Given the description of an element on the screen output the (x, y) to click on. 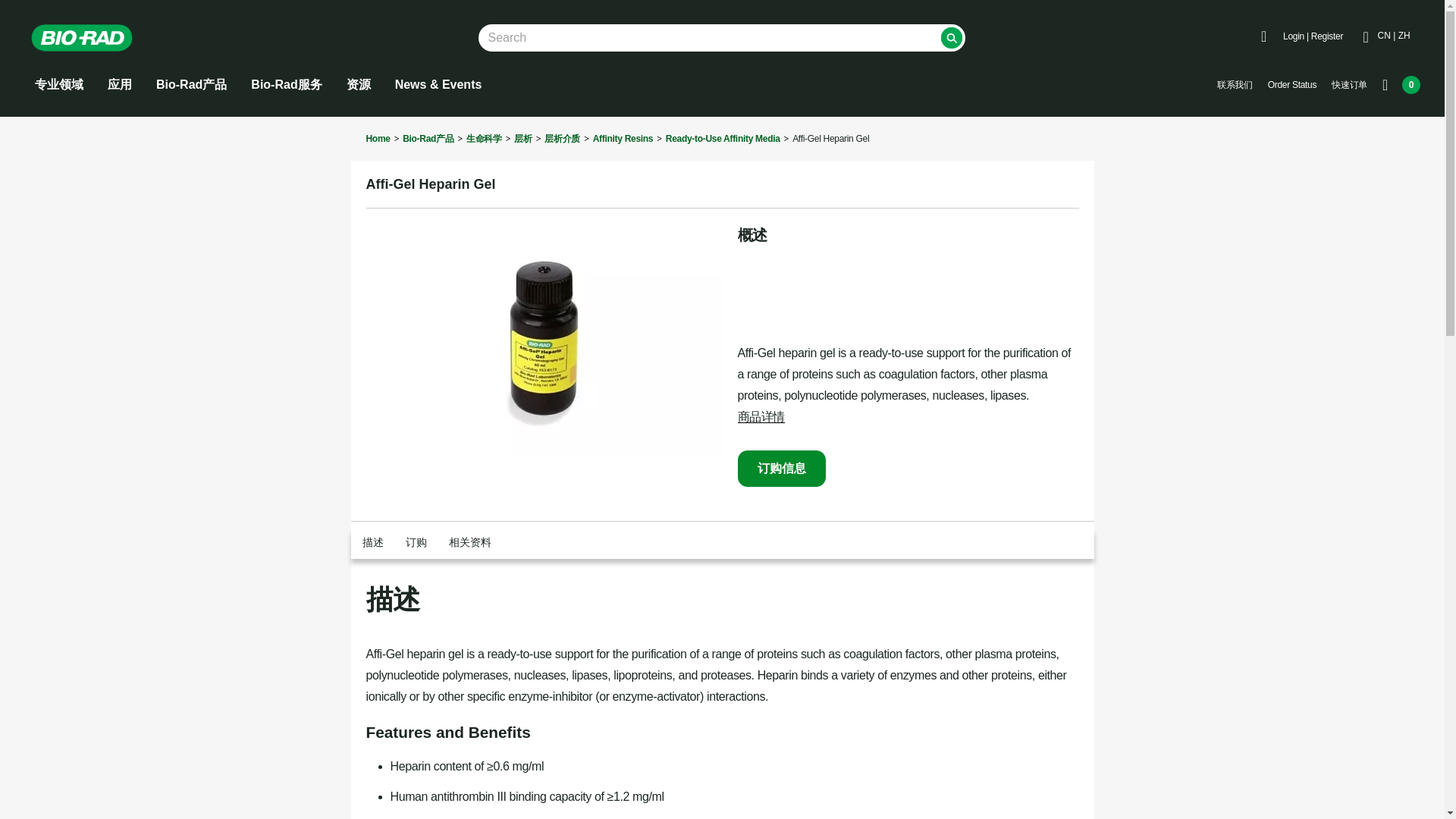
Order Status (1291, 84)
Search (951, 37)
0 (1401, 84)
Bio-Rad (81, 37)
Bio-Rad (92, 37)
Search (951, 37)
Shopping Cart (1401, 84)
Order Status (1291, 84)
